Given the description of an element on the screen output the (x, y) to click on. 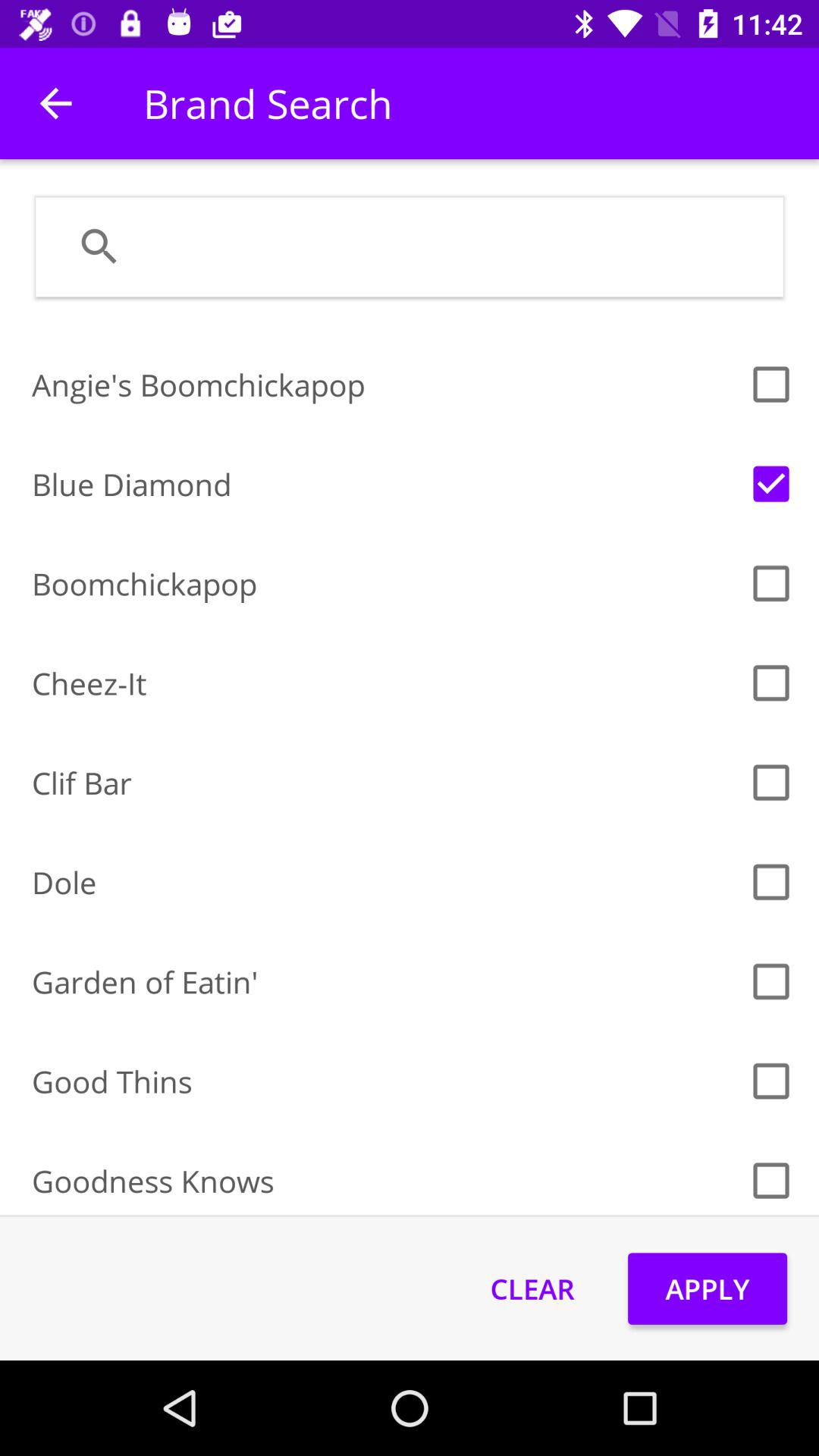
tap the icon next to the apply item (531, 1288)
